Given the description of an element on the screen output the (x, y) to click on. 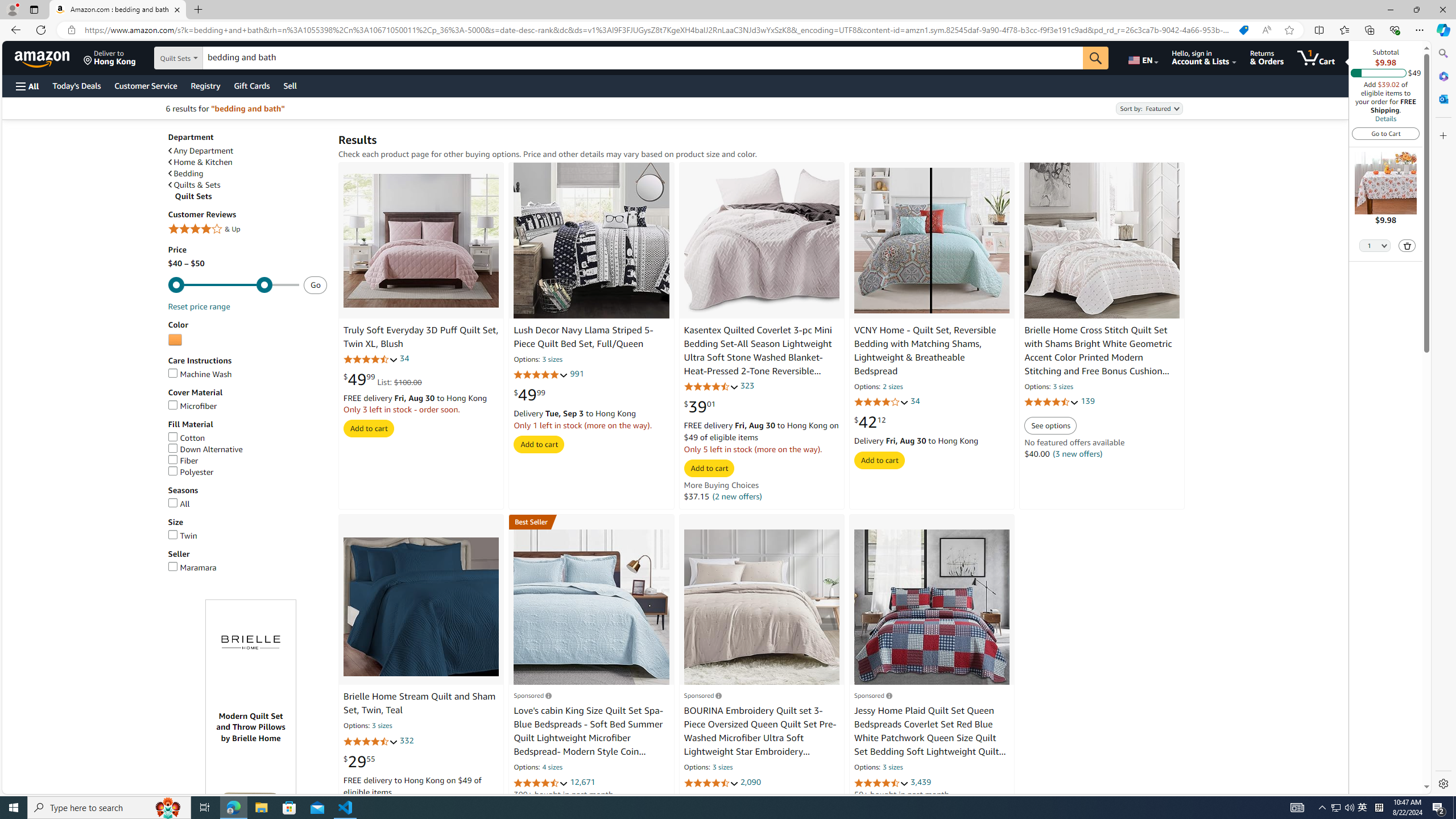
(2 new offers) (736, 495)
Logo (250, 642)
Polyester (190, 471)
Cotton (186, 437)
Microfiber (247, 406)
4.8 out of 5 stars (541, 374)
Hello, sign in Account & Lists (1203, 57)
Returns & Orders (1266, 57)
3,439 (920, 781)
Skip to main search results (50, 788)
